Given the description of an element on the screen output the (x, y) to click on. 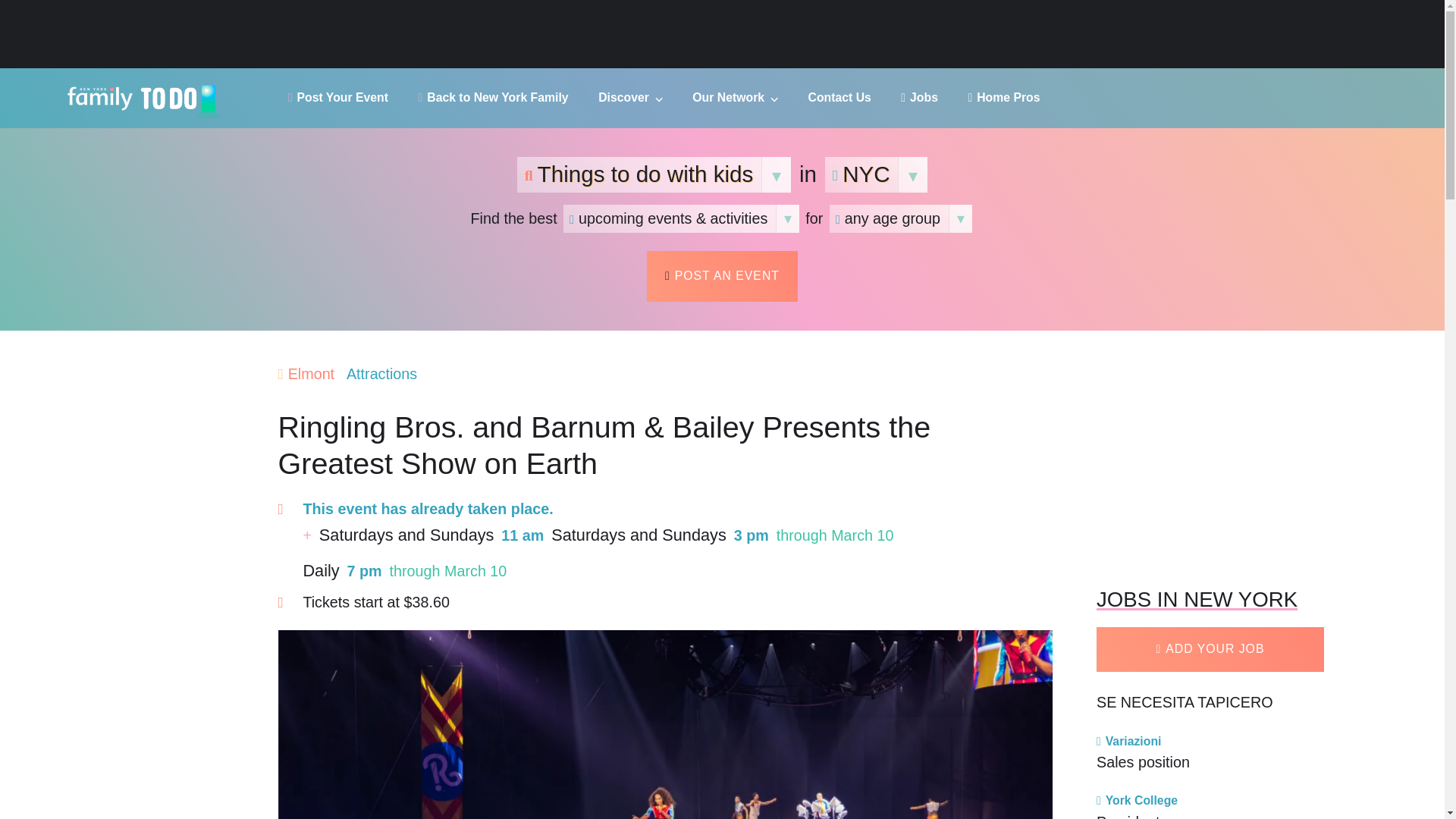
Post Your Event (338, 97)
Discover (630, 97)
Back to New York Family (494, 97)
Our Network (735, 97)
Jobs (919, 97)
Home Pros (1003, 97)
Contact Us (839, 97)
